Given the description of an element on the screen output the (x, y) to click on. 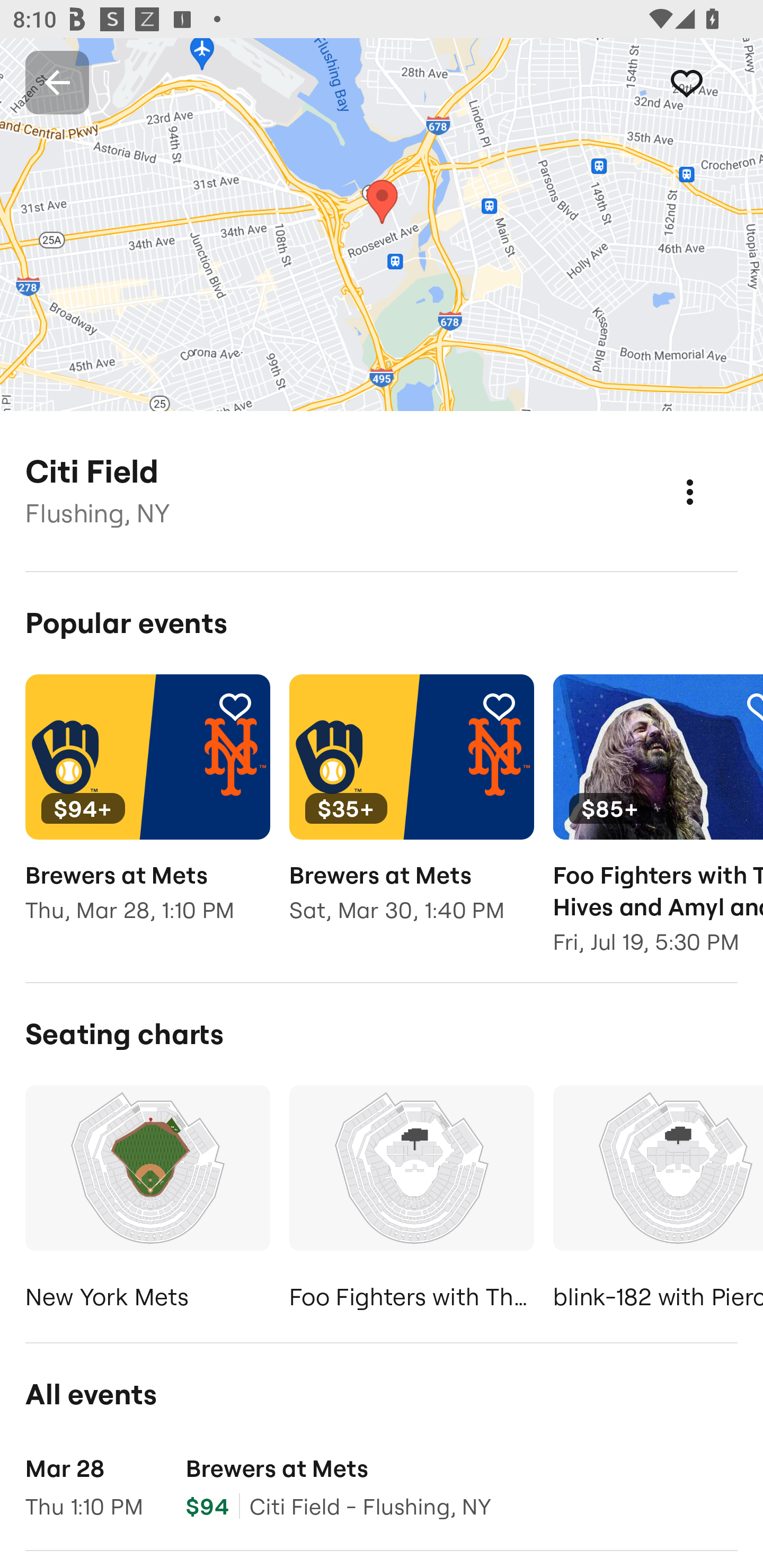
Back (57, 81)
Tracking (705, 81)
See more options (708, 472)
Tracking $94+ Brewers at Mets Thu, Mar 28, 1:10 PM (147, 811)
Tracking $35+ Brewers at Mets Sat, Mar 30, 1:40 PM (411, 811)
Tracking (234, 705)
Tracking (498, 705)
Tracking (753, 705)
New York Mets (147, 1201)
blink-182 with Pierce the Veil (658, 1201)
